Given the description of an element on the screen output the (x, y) to click on. 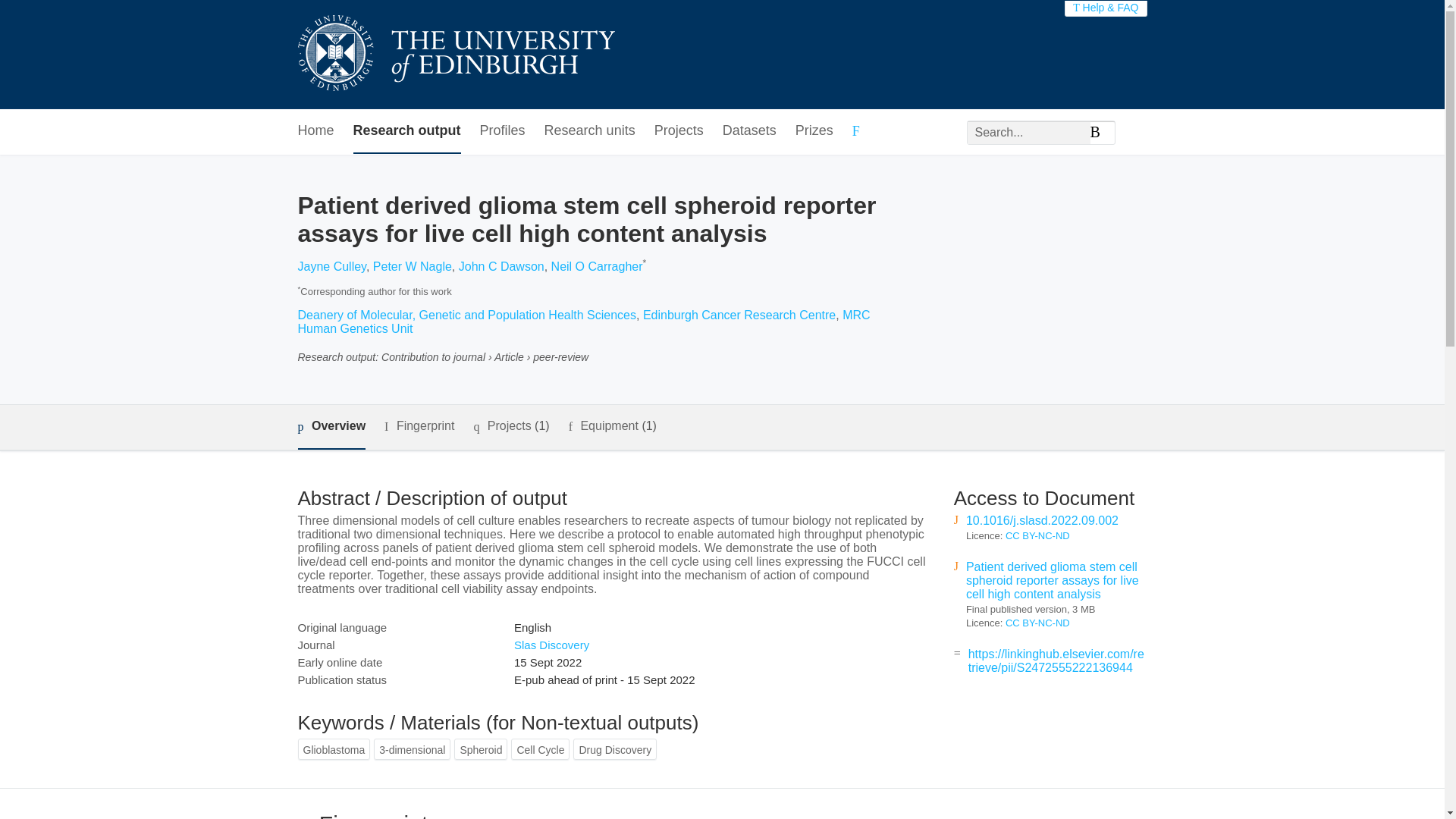
Profiles (502, 130)
Jayne Culley (331, 266)
Projects (678, 130)
Neil O Carragher (597, 266)
Fingerprint (419, 425)
Deanery of Molecular, Genetic and Population Health Sciences (465, 314)
Research output (407, 130)
Overview (331, 426)
University of Edinburgh Research Explorer Home (455, 54)
